Given the description of an element on the screen output the (x, y) to click on. 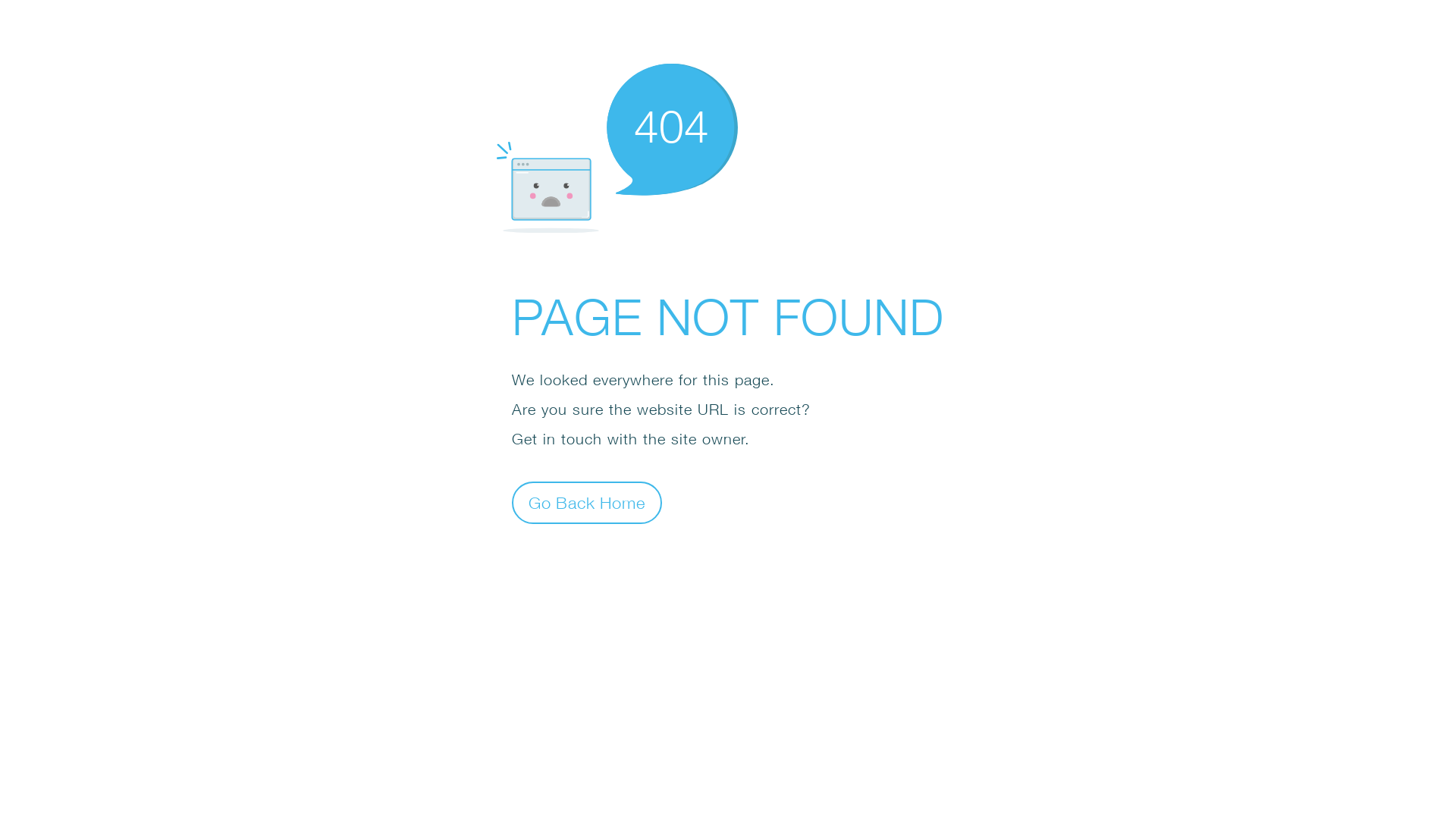
Go Back Home Element type: text (586, 502)
